Given the description of an element on the screen output the (x, y) to click on. 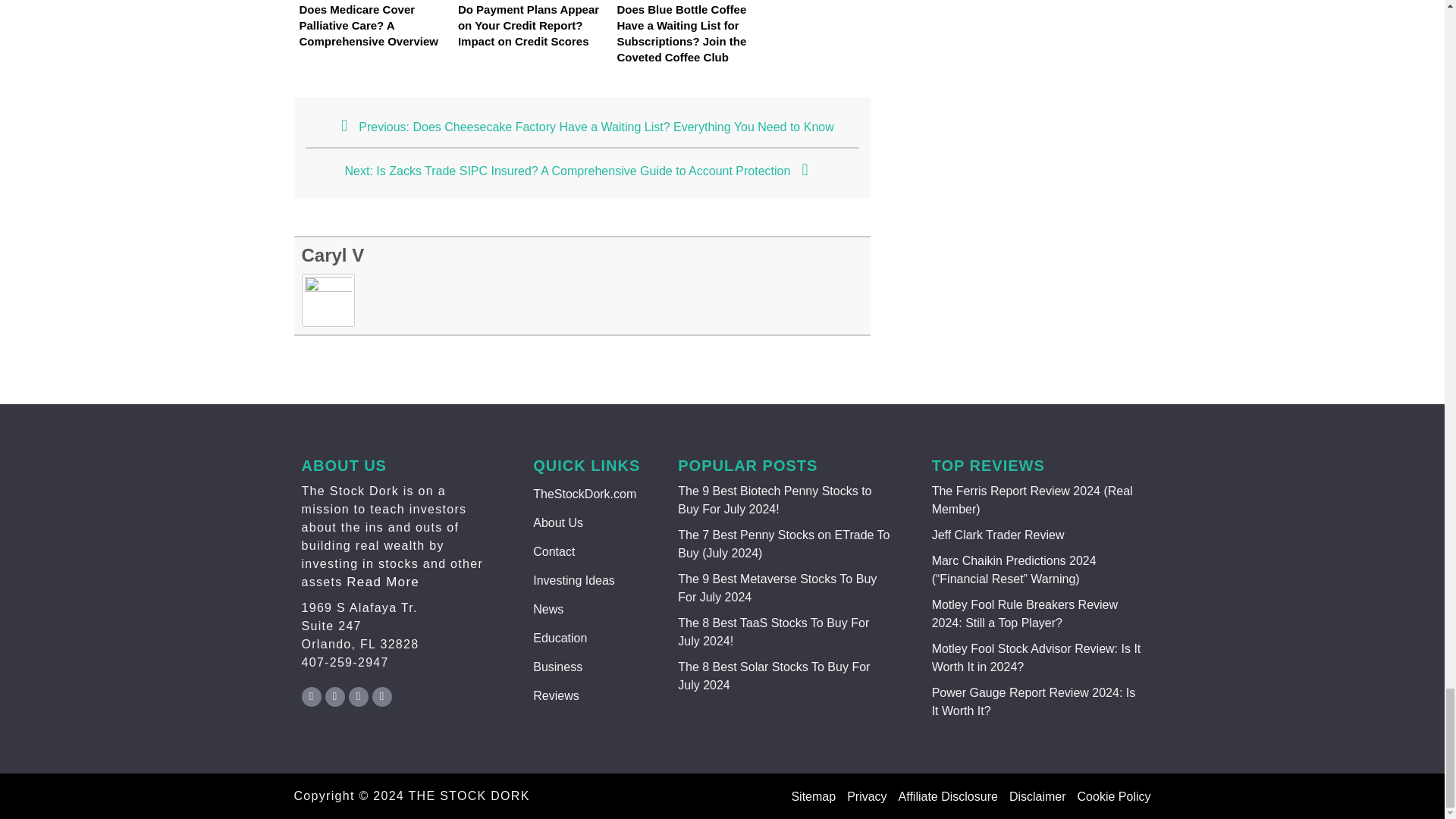
All posts by Caryl V (333, 254)
